Given the description of an element on the screen output the (x, y) to click on. 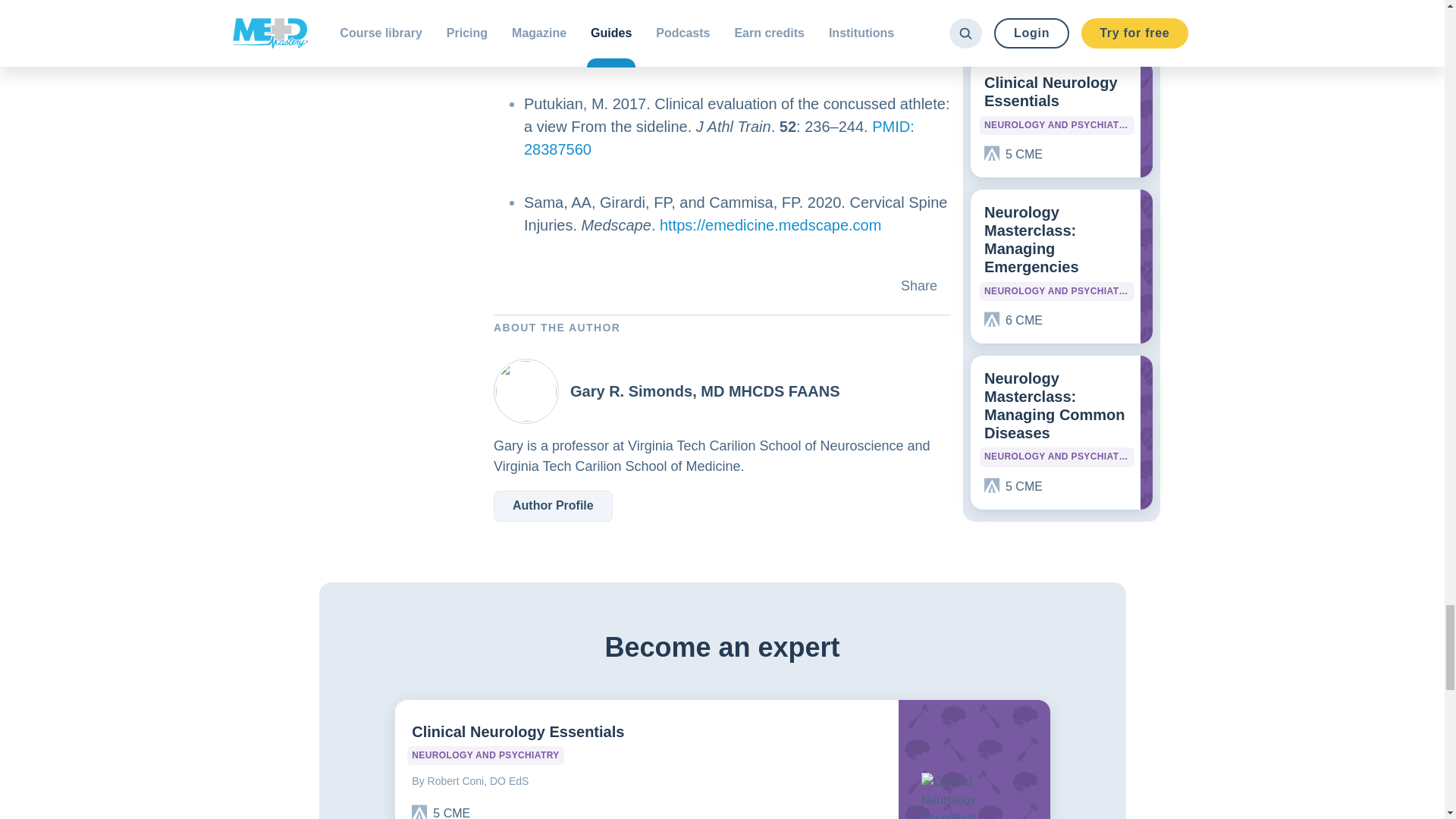
speciality (485, 755)
Robert Coni, DO EdS (646, 777)
PMID: 28387560 (719, 137)
Author Profile (552, 505)
